Given the description of an element on the screen output the (x, y) to click on. 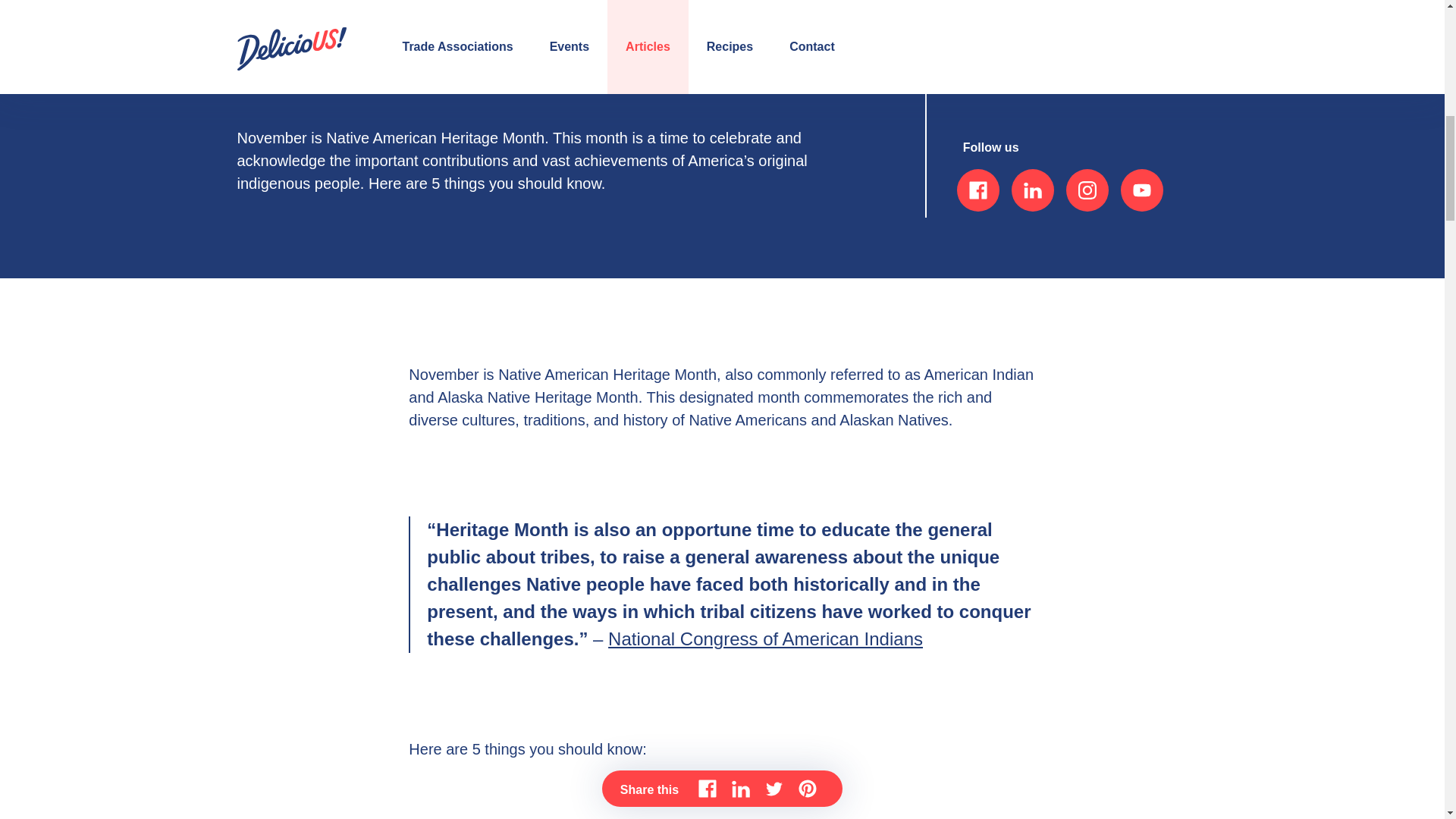
LinkedIn (1032, 189)
contact us (1009, 67)
Instagram (1086, 189)
Facebook (977, 189)
YouTube (1142, 189)
National Congress of American Indians (765, 638)
